Given the description of an element on the screen output the (x, y) to click on. 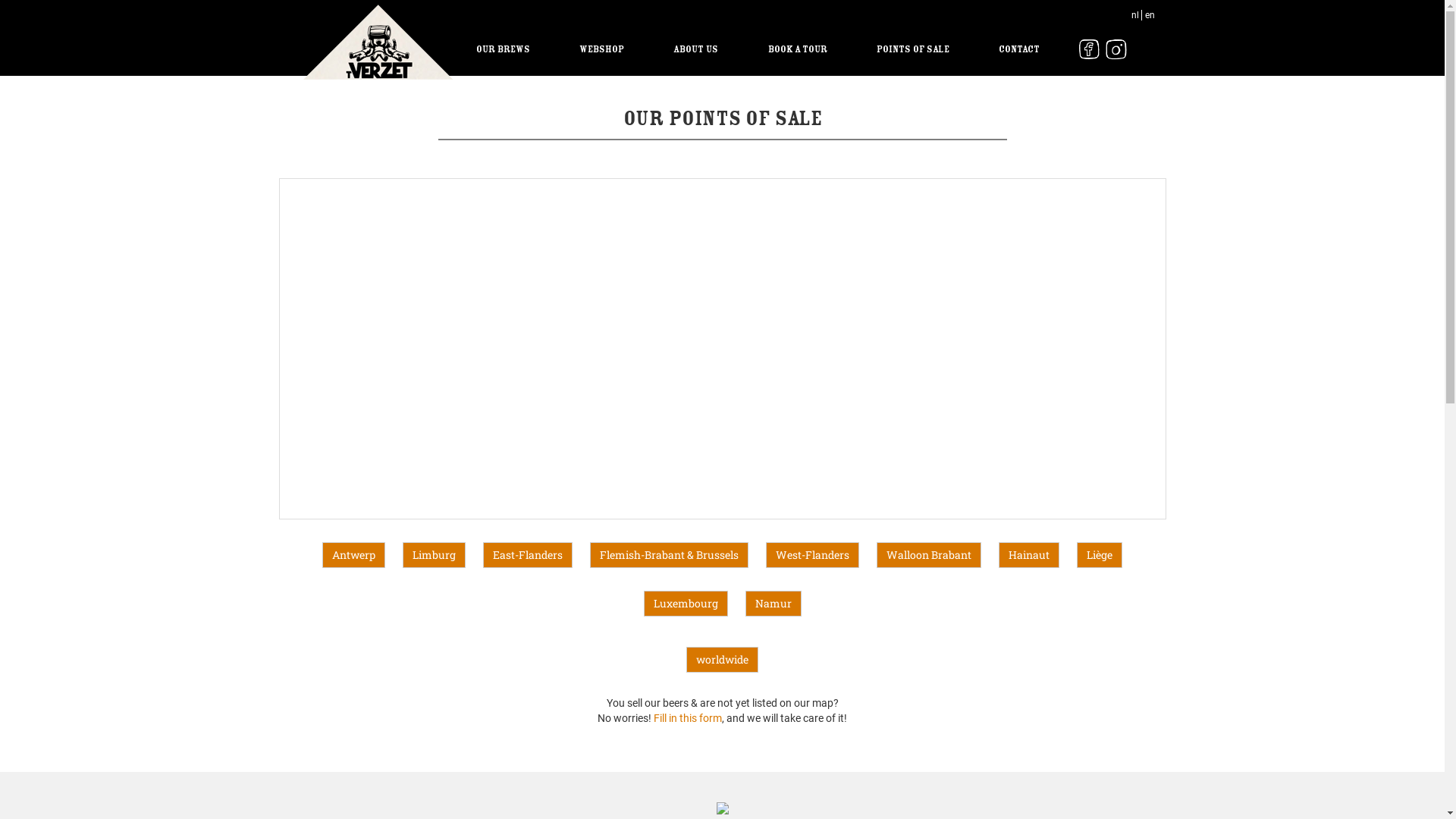
Namur Element type: text (773, 603)
worldwide Element type: text (722, 659)
Luxembourg Element type: text (685, 603)
Hainaut Element type: text (1028, 554)
Walloon Brabant Element type: text (928, 554)
Limburg Element type: text (433, 554)
nl Element type: text (1136, 14)
WEBSHOP Element type: text (601, 49)
en Element type: text (1149, 14)
POINTS OF SALE Element type: text (912, 49)
ABOUT US Element type: text (695, 49)
Flemish-Brabant & Brussels Element type: text (668, 554)
West-Flanders Element type: text (812, 554)
OUR BREWS Element type: text (502, 49)
BOOK A TOUR Element type: text (797, 49)
Fill in this form Element type: text (687, 718)
East-Flanders Element type: text (527, 554)
Antwerp Element type: text (353, 554)
CONTACT Element type: text (1019, 49)
